Given the description of an element on the screen output the (x, y) to click on. 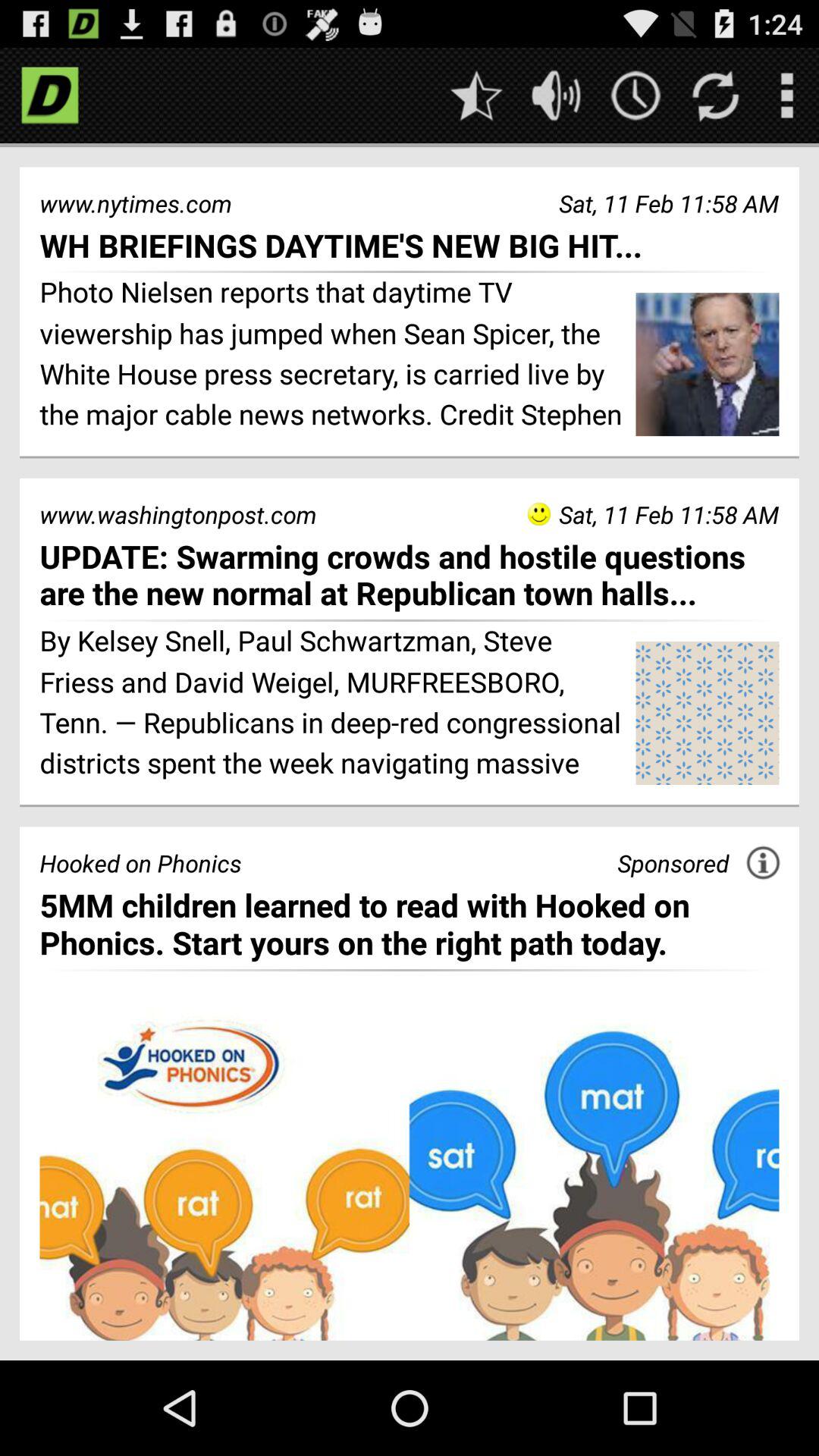
select the icon below the www.washingtonpost.com (409, 574)
